Given the description of an element on the screen output the (x, y) to click on. 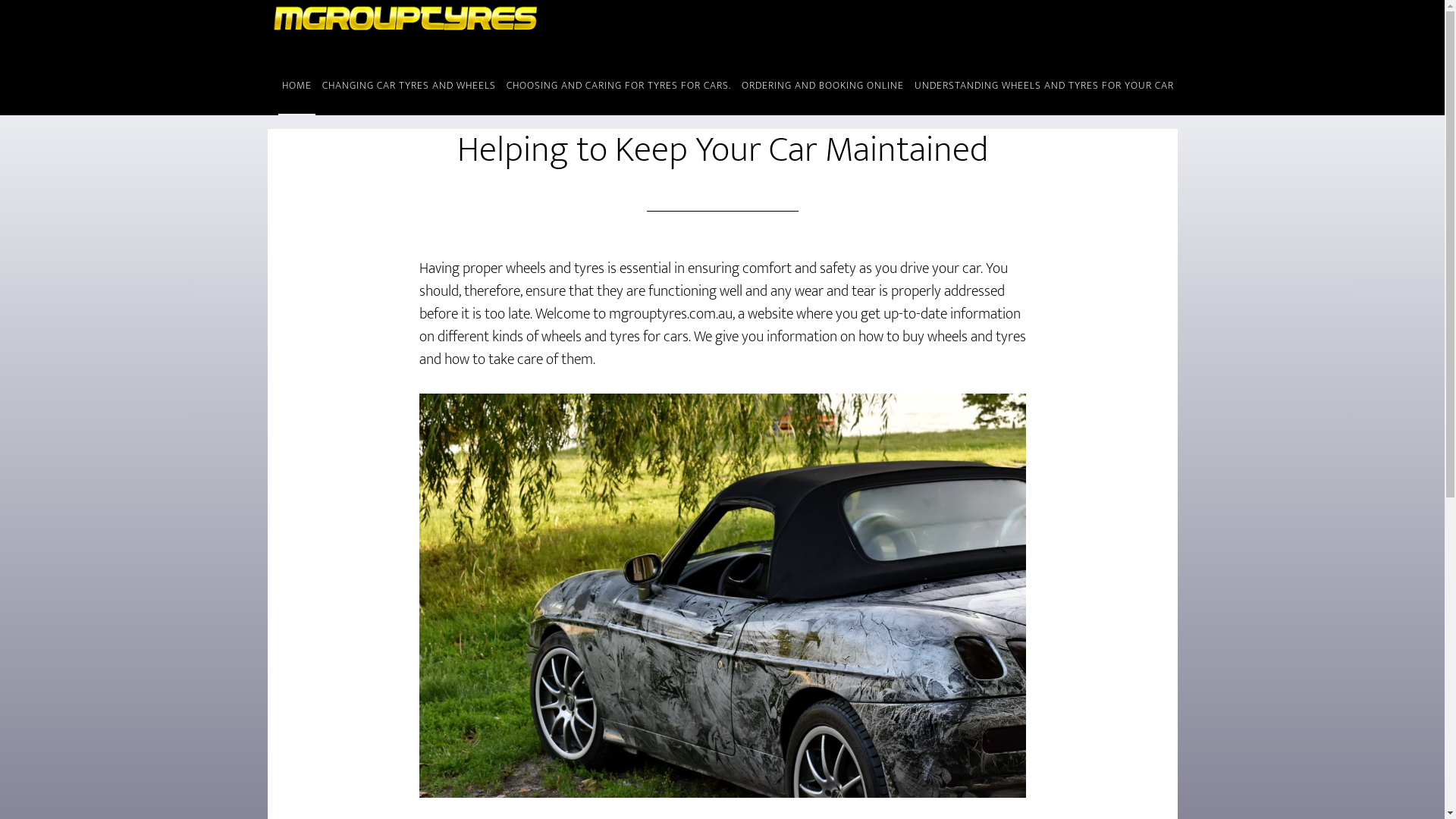
Skip to main content Element type: text (0, 0)
CHANGING CAR TYRES AND WHEELS Element type: text (408, 86)
ORDERING AND BOOKING ONLINE Element type: text (821, 86)
UNDERSTANDING WHEELS AND TYRES FOR YOUR CAR Element type: text (1043, 86)
HOME Element type: text (295, 86)
MGROUPTYRES.COM.AU Element type: text (402, 28)
CHOOSING AND CARING FOR TYRES FOR CARS. Element type: text (618, 86)
